Given the description of an element on the screen output the (x, y) to click on. 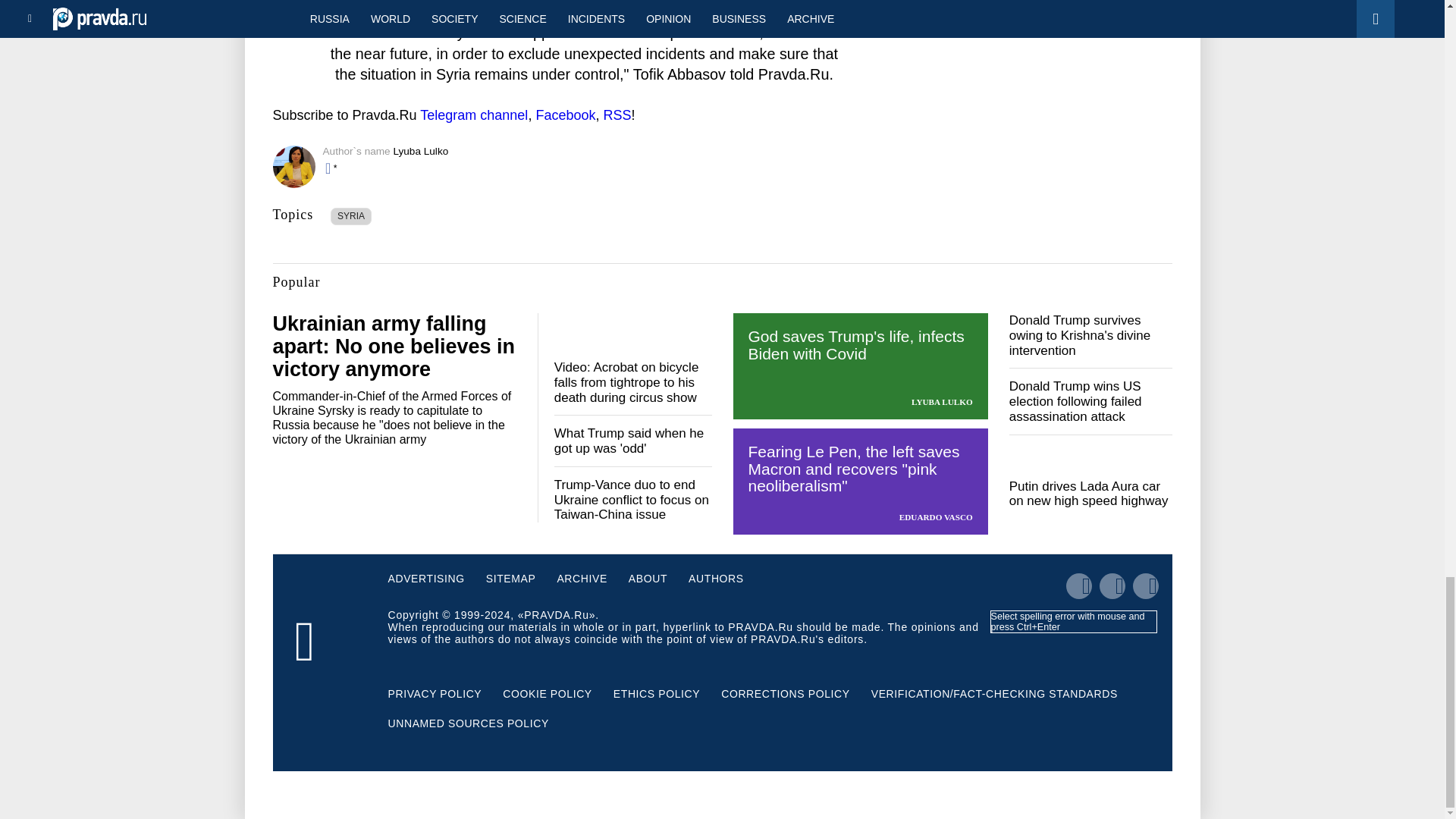
Facebook (565, 114)
Telegram channel (473, 114)
Lyuba Lulko (420, 151)
RSS (616, 114)
SYRIA (351, 216)
